Given the description of an element on the screen output the (x, y) to click on. 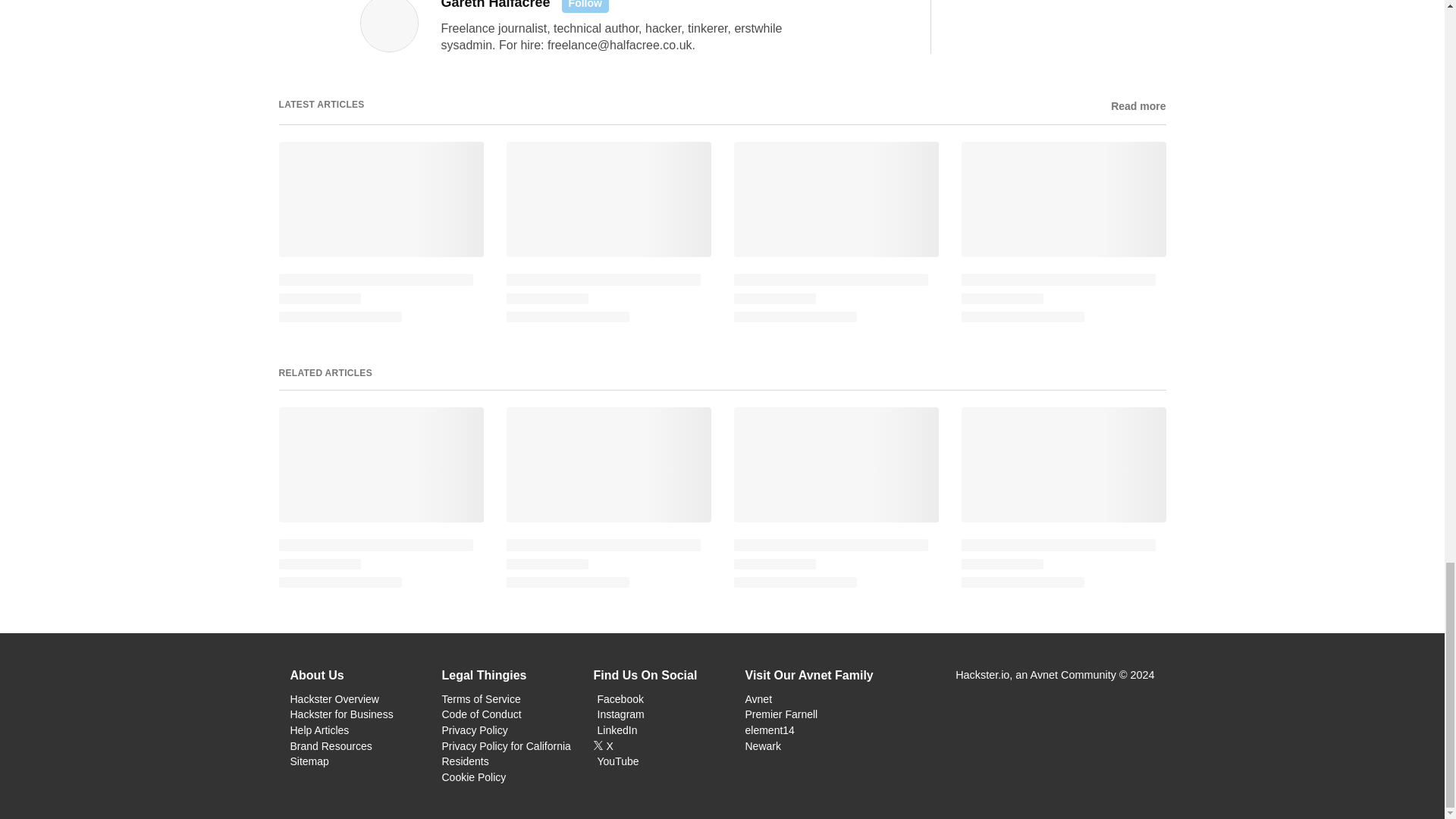
Follow (585, 6)
Hackster for Business (341, 714)
Brand Resources (330, 746)
Read more (1138, 106)
Help Articles (319, 729)
Gareth Halfacree (495, 4)
Sitemap (309, 761)
Hackster Overview (333, 698)
